Given the description of an element on the screen output the (x, y) to click on. 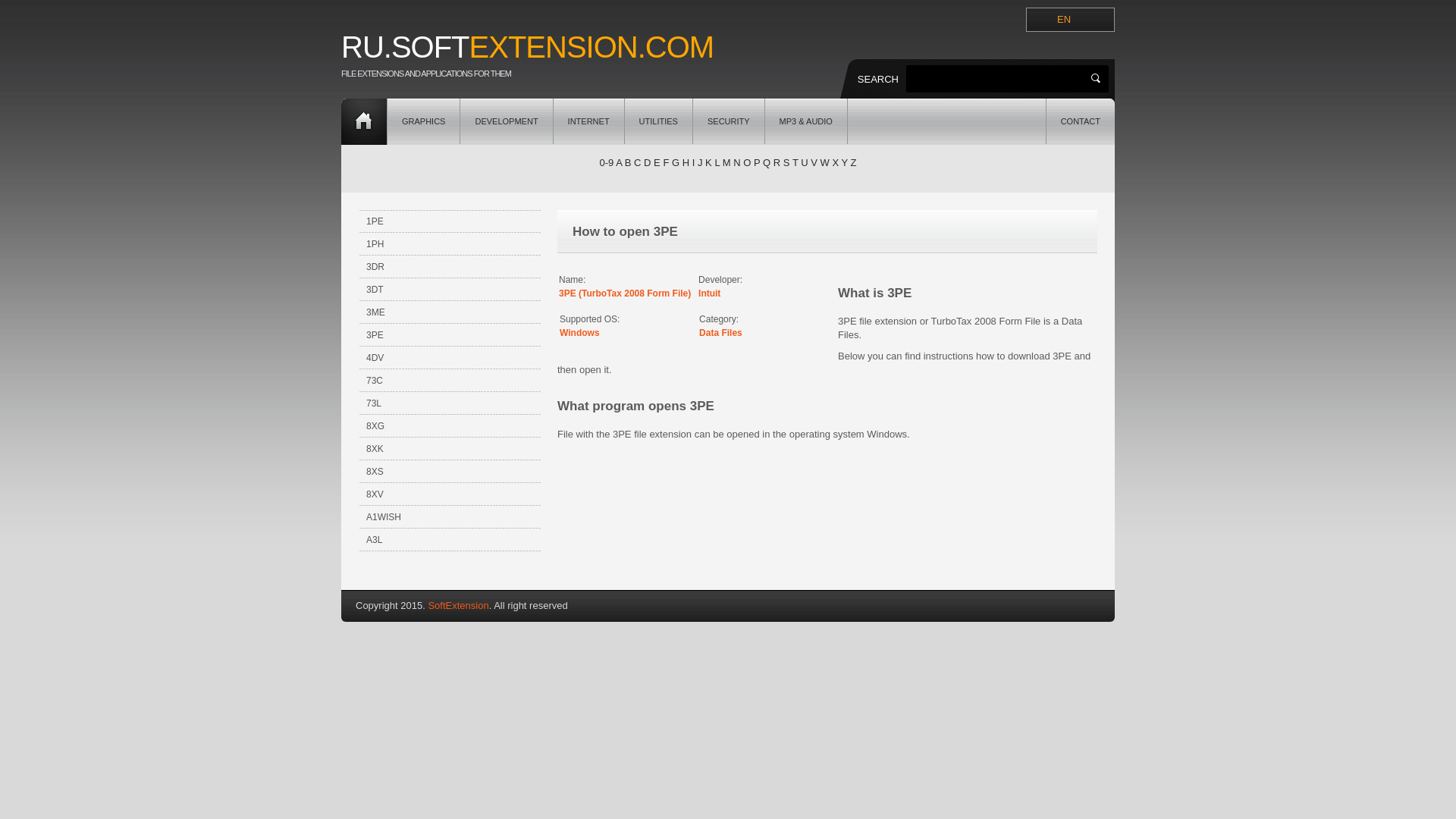
DEVELOPMENT (506, 121)
UTILITIES (658, 121)
go (1095, 78)
HOME (363, 121)
1PE (449, 221)
go (1095, 78)
SECURITY (729, 121)
CONTACT (1080, 121)
0-9 (605, 162)
